Given the description of an element on the screen output the (x, y) to click on. 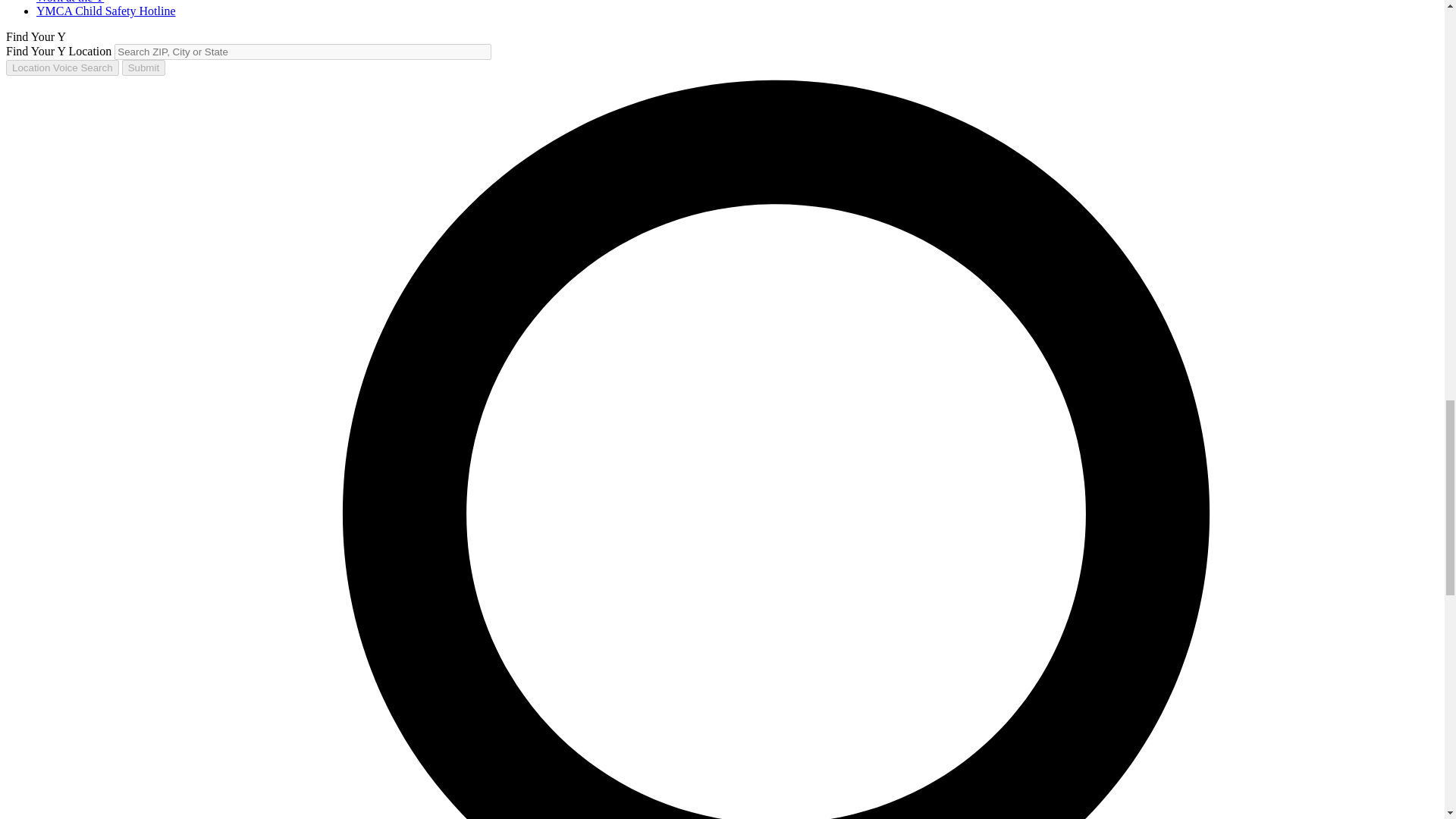
Submit (143, 67)
